Given the description of an element on the screen output the (x, y) to click on. 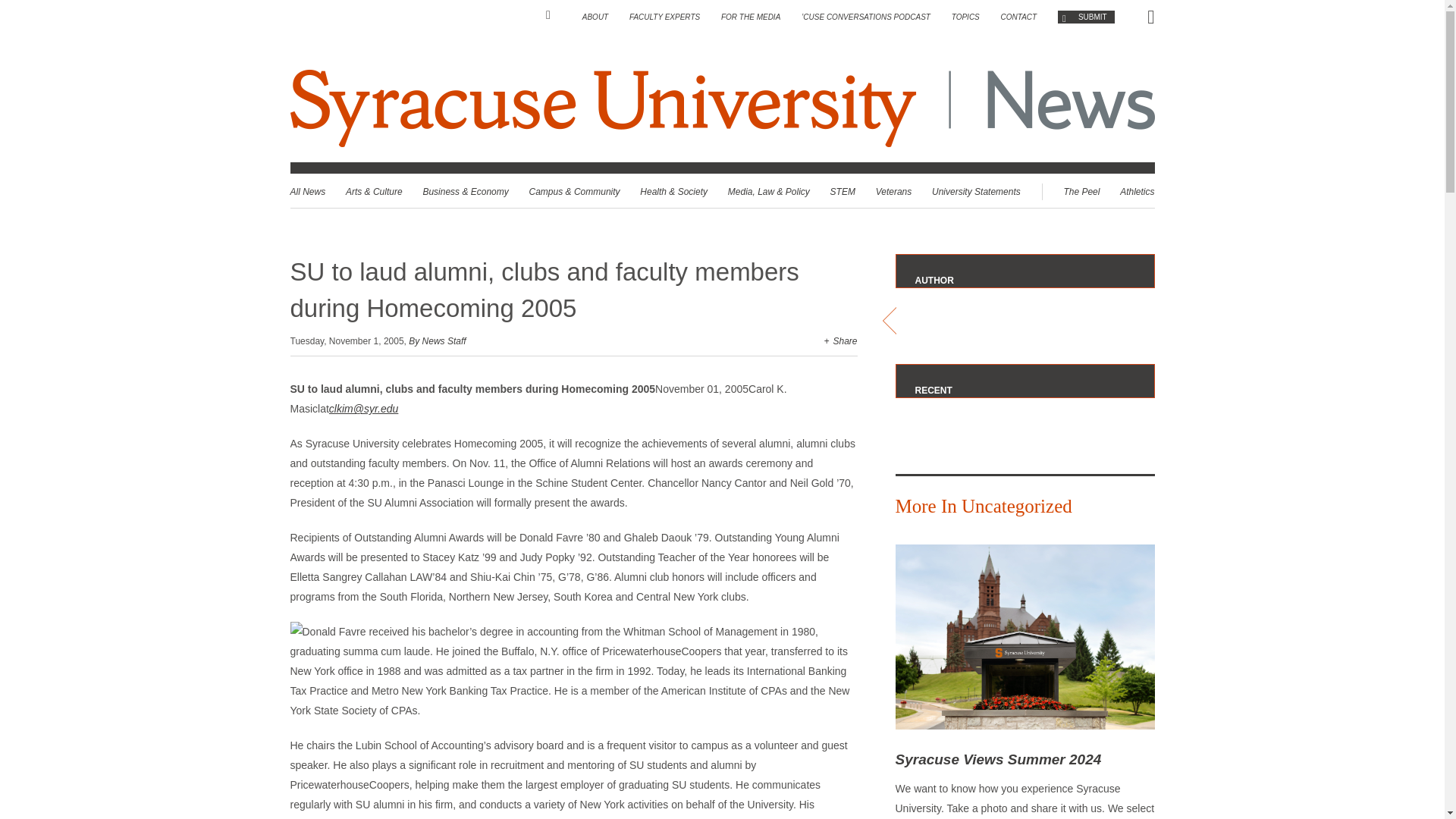
Submit (1086, 16)
Syracuse University News (1063, 108)
Syracuse University (604, 108)
FACULTY EXPERTS (664, 17)
About (595, 17)
All News (306, 191)
TOPICS (965, 17)
For The Media (750, 17)
CONTACT (1018, 17)
All News (306, 191)
Faculty Experts (664, 17)
Veterans (894, 191)
Contact (1018, 17)
Athletics (1136, 191)
Home (553, 15)
